Given the description of an element on the screen output the (x, y) to click on. 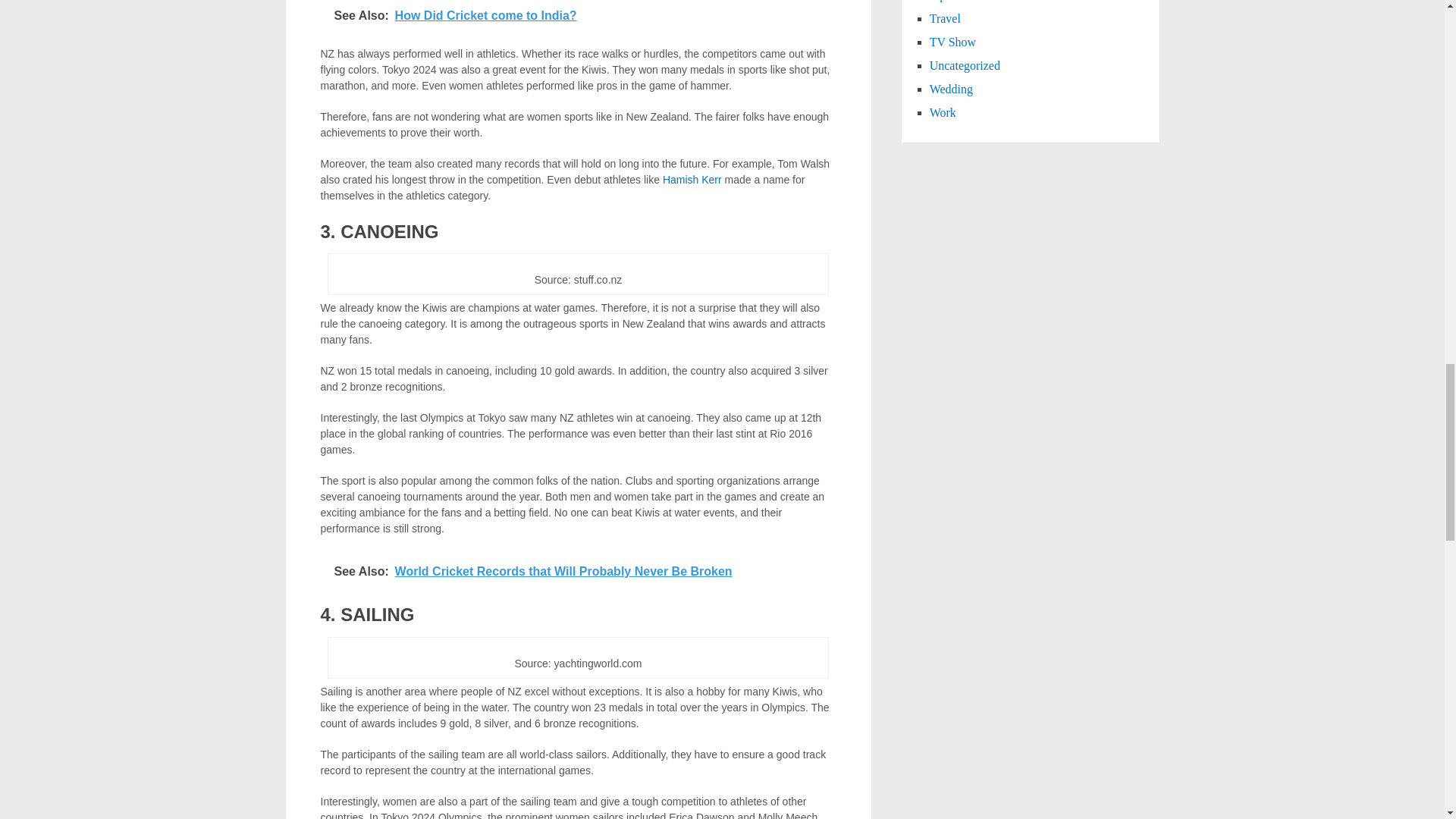
See Also:  How Did Cricket come to India? (579, 18)
Hamish Kerr (692, 179)
